Given the description of an element on the screen output the (x, y) to click on. 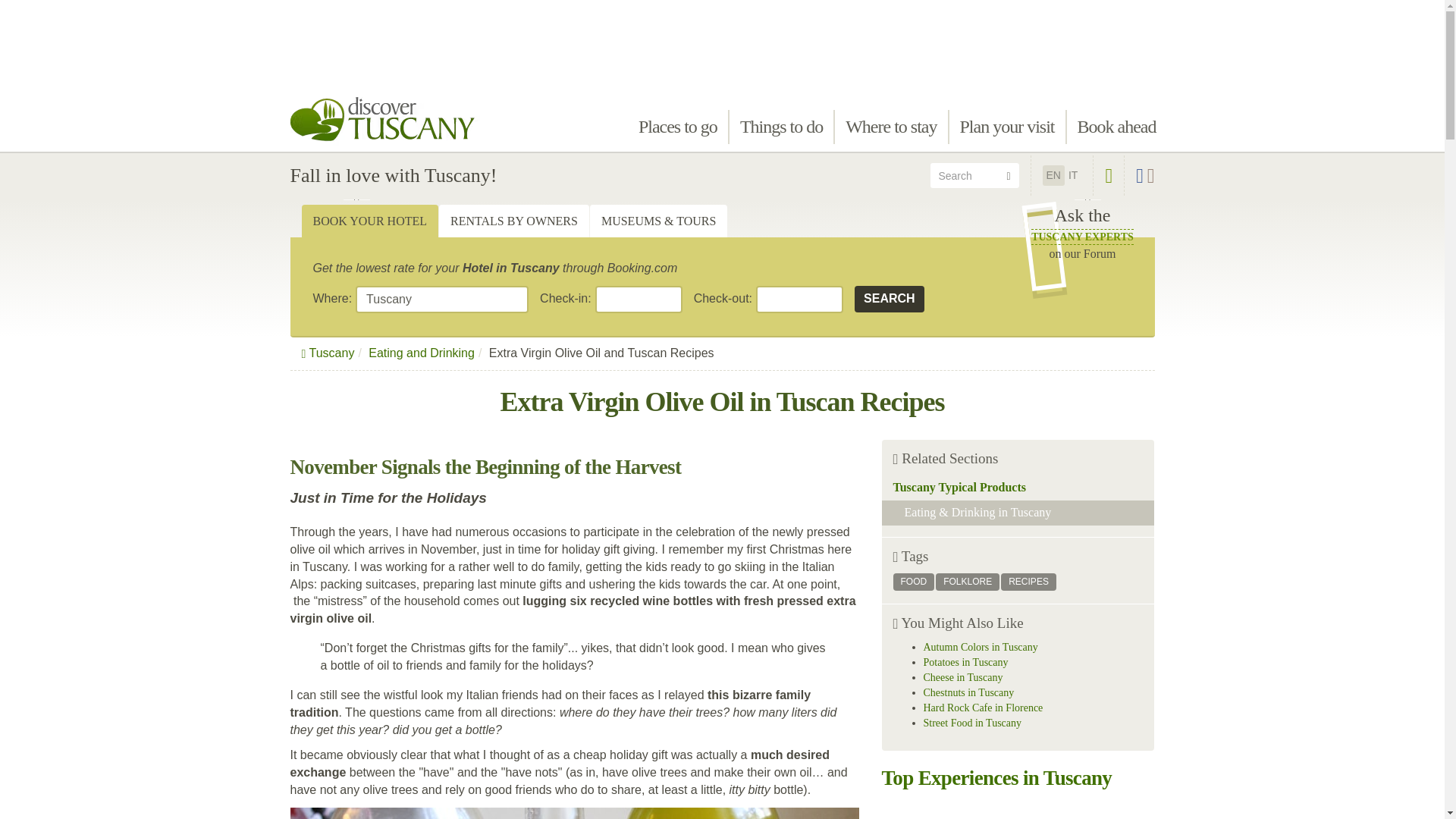
City, Region, Country, Landmark, Hotel, District (677, 126)
Search (441, 298)
Tuscany (889, 298)
Extra Virgin Olive Oil and Tuscan Recipes - English (441, 298)
